Given the description of an element on the screen output the (x, y) to click on. 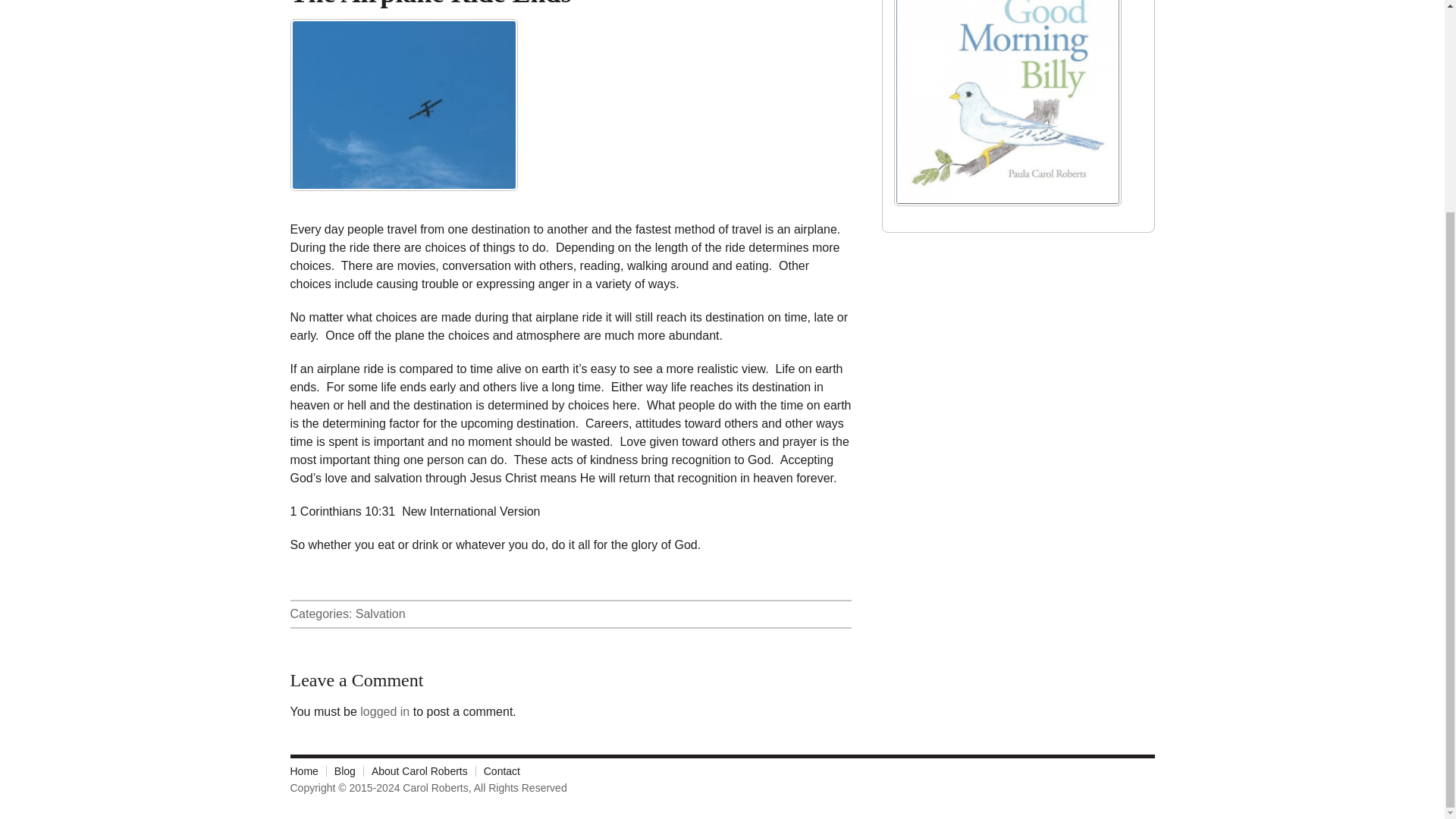
logged in (384, 711)
About Carol Roberts (420, 770)
Good Morning Billy (1007, 210)
Home (307, 770)
Salvation (380, 612)
Blog (345, 770)
Contact (501, 770)
